Given the description of an element on the screen output the (x, y) to click on. 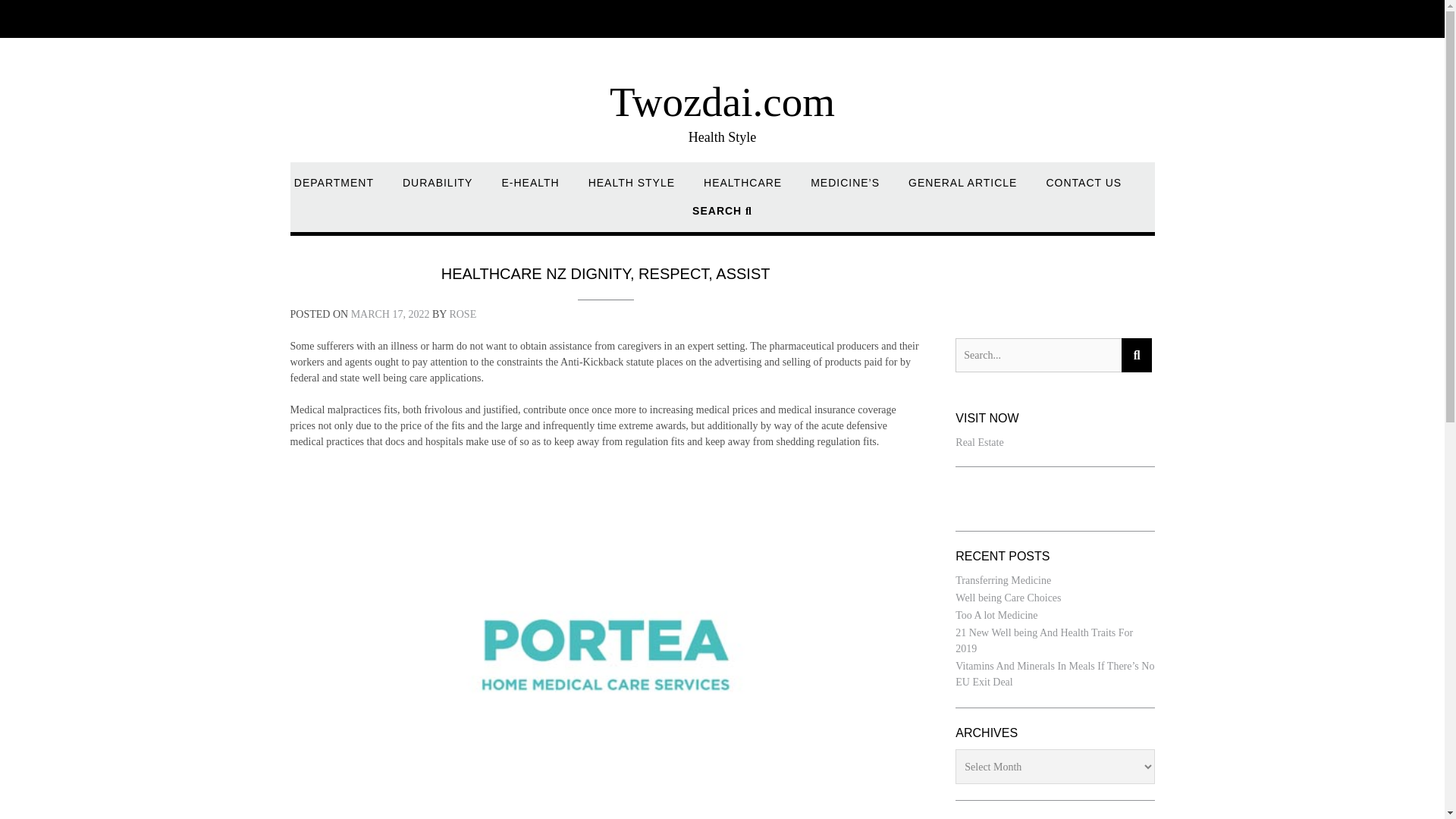
SEARCH (722, 217)
CONTACT US (1083, 189)
Twozdai.com (722, 102)
DEPARTMENT (334, 189)
HEALTHCARE (742, 189)
E-HEALTH (529, 189)
GENERAL ARTICLE (962, 189)
Twozdai.com (722, 102)
Search for: (1038, 355)
